Given the description of an element on the screen output the (x, y) to click on. 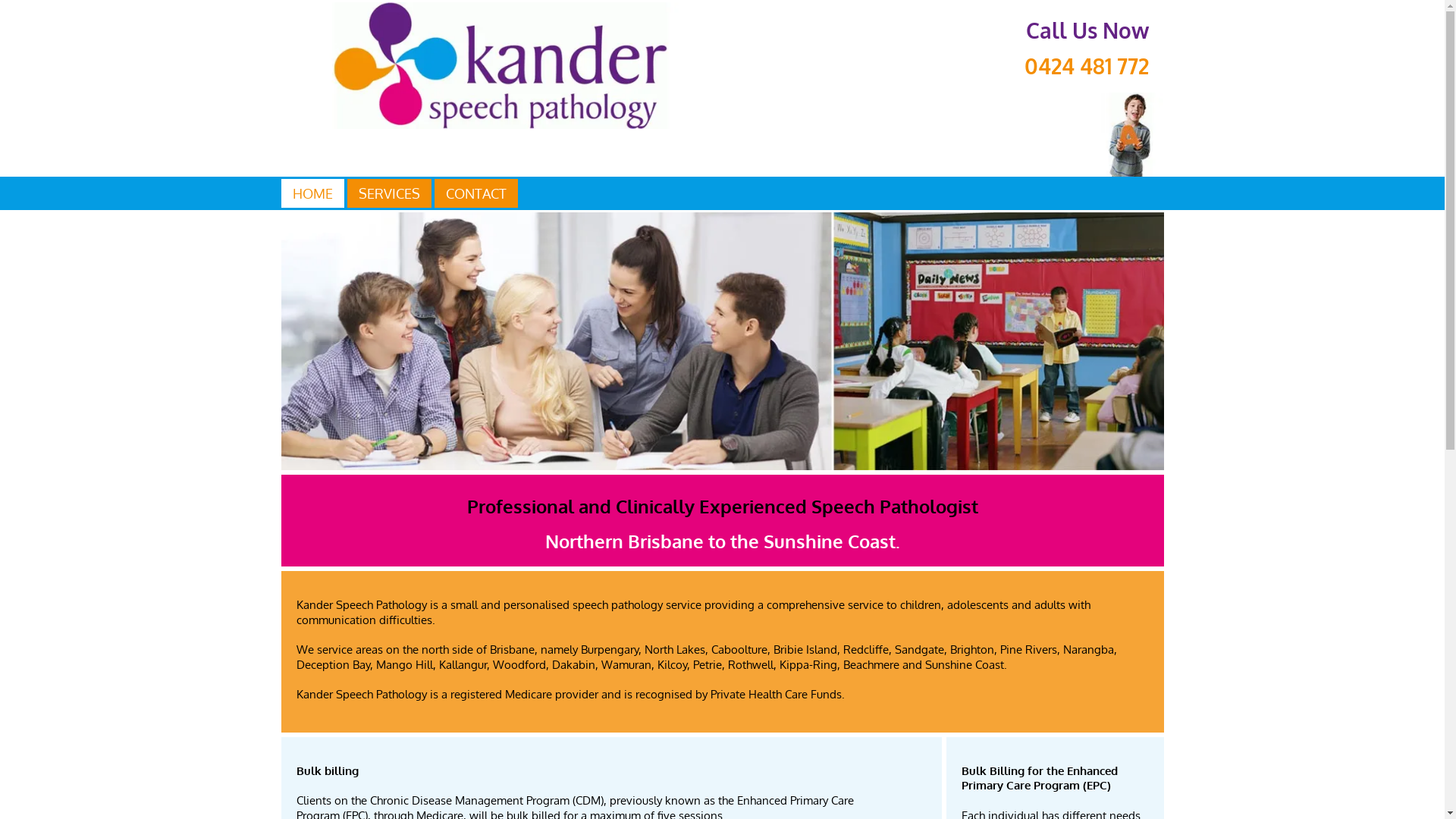
CONTACT Element type: text (475, 193)
kander speech pathology little boy smiling Element type: hover (944, 134)
kander speech pathology Element type: hover (499, 65)
SERVICES Element type: text (388, 193)
kander speech pathology students smiling Element type: hover (721, 341)
0424 481 772 Element type: text (1085, 65)
HOME Element type: text (312, 193)
